Given the description of an element on the screen output the (x, y) to click on. 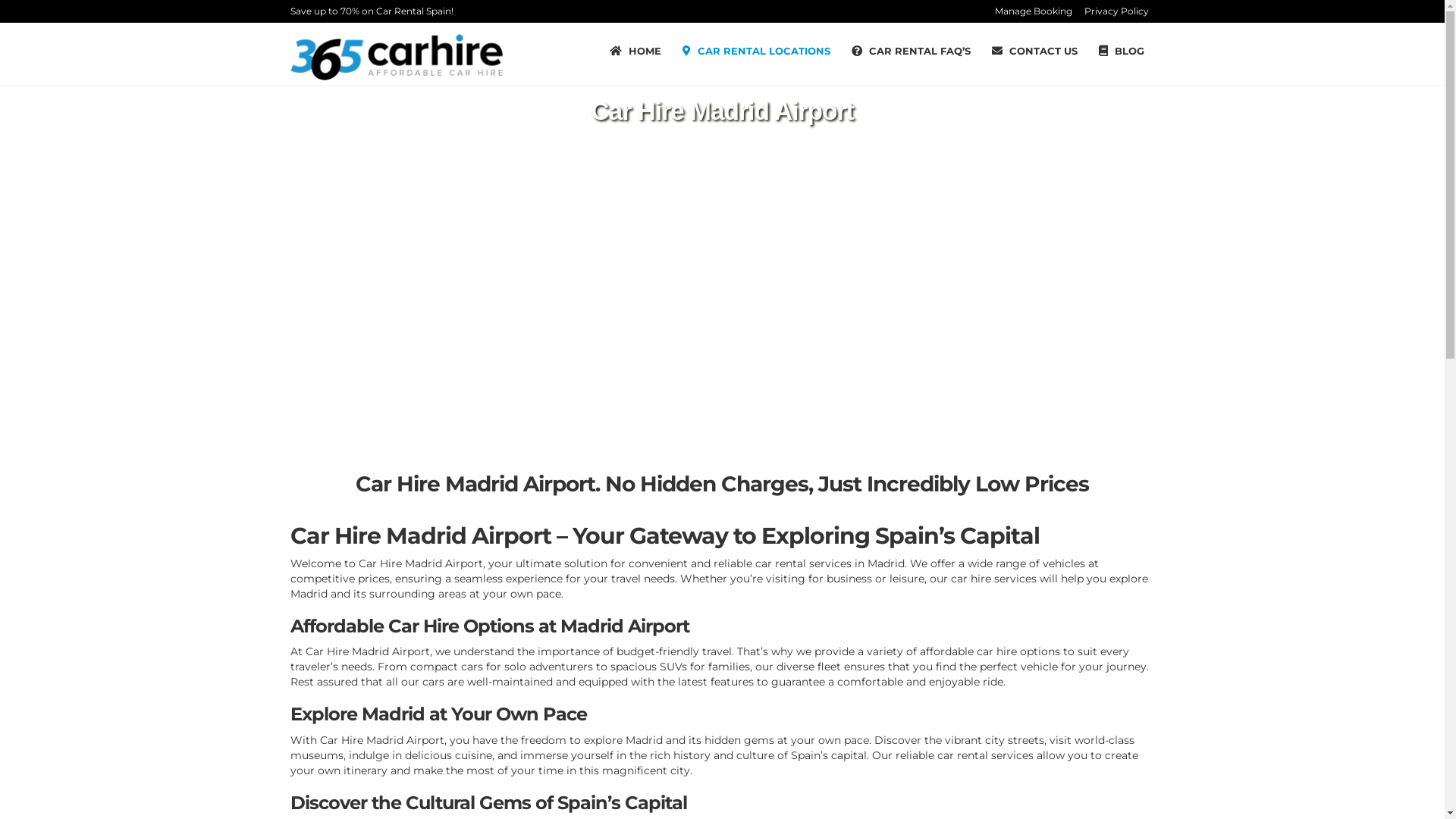
365 Car Hire Element type: hover (395, 55)
Manage Booking Element type: text (1033, 11)
HOME Element type: text (635, 50)
Privacy Policy Element type: text (1116, 11)
CAR RENTAL LOCATIONS Element type: text (755, 50)
CONTACT US Element type: text (1034, 50)
Car Hire Madrid Airport Element type: text (382, 739)
BLOG Element type: text (1120, 50)
